Given the description of an element on the screen output the (x, y) to click on. 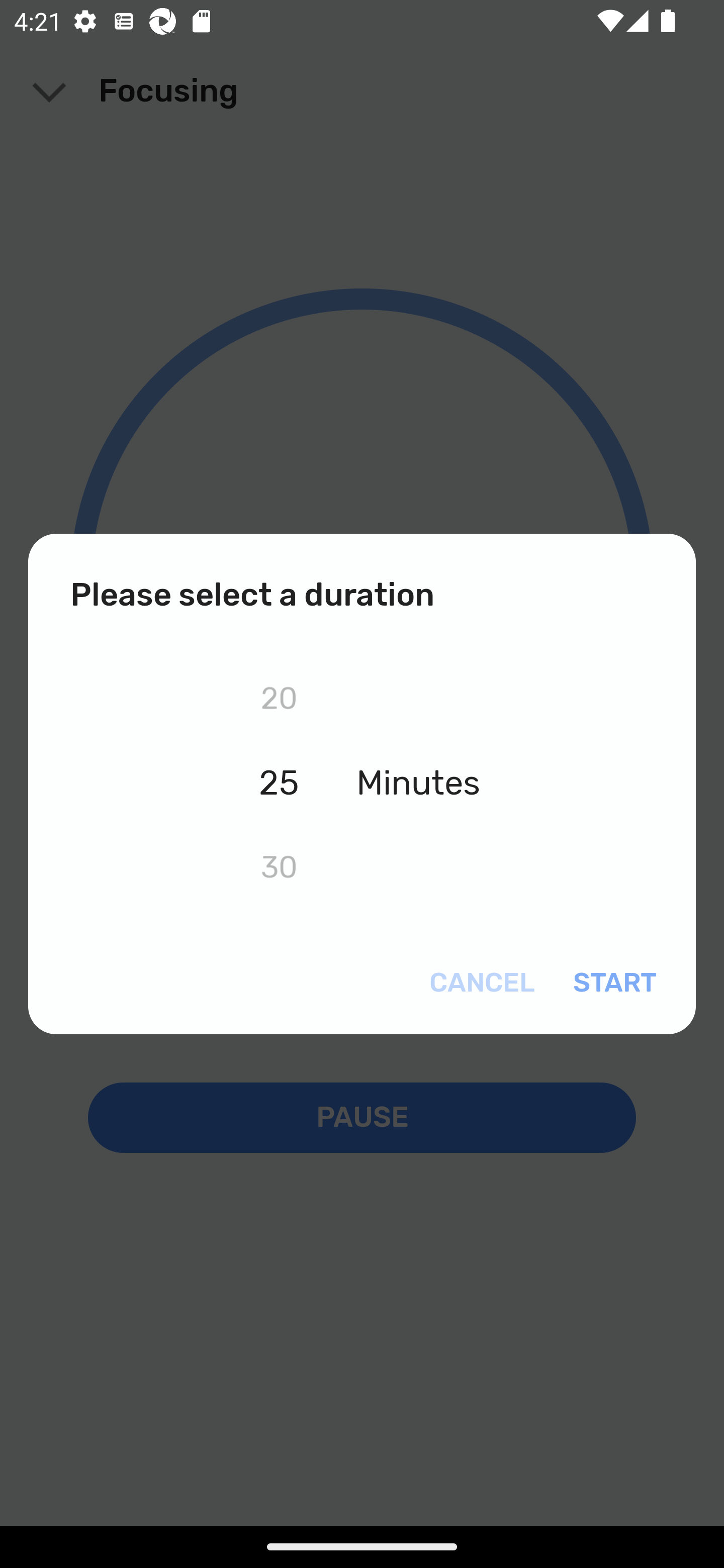
CANCEL (484, 982)
START (611, 982)
